Given the description of an element on the screen output the (x, y) to click on. 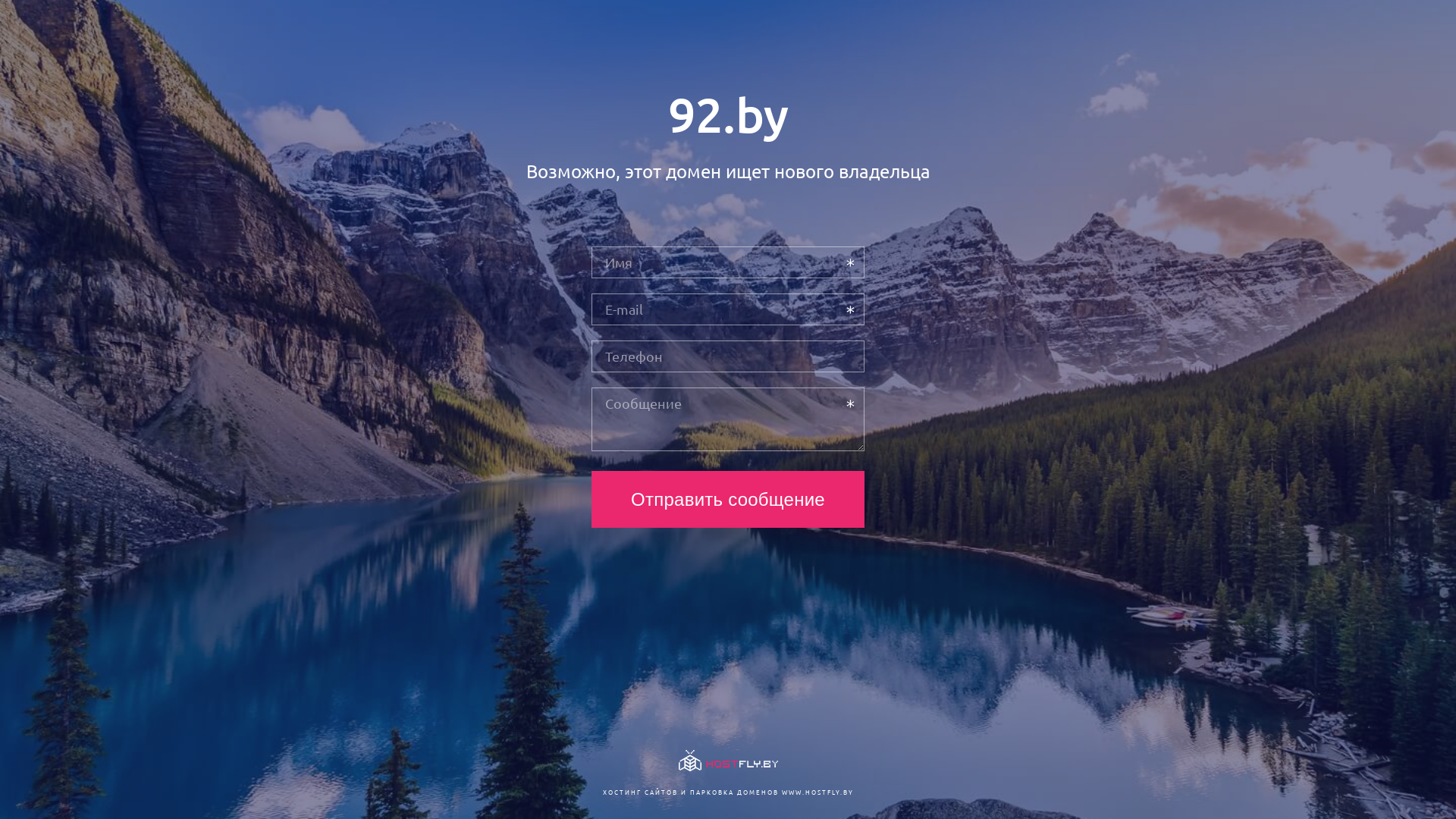
WWW.HOSTFLY.BY Element type: text (817, 791)
